Given the description of an element on the screen output the (x, y) to click on. 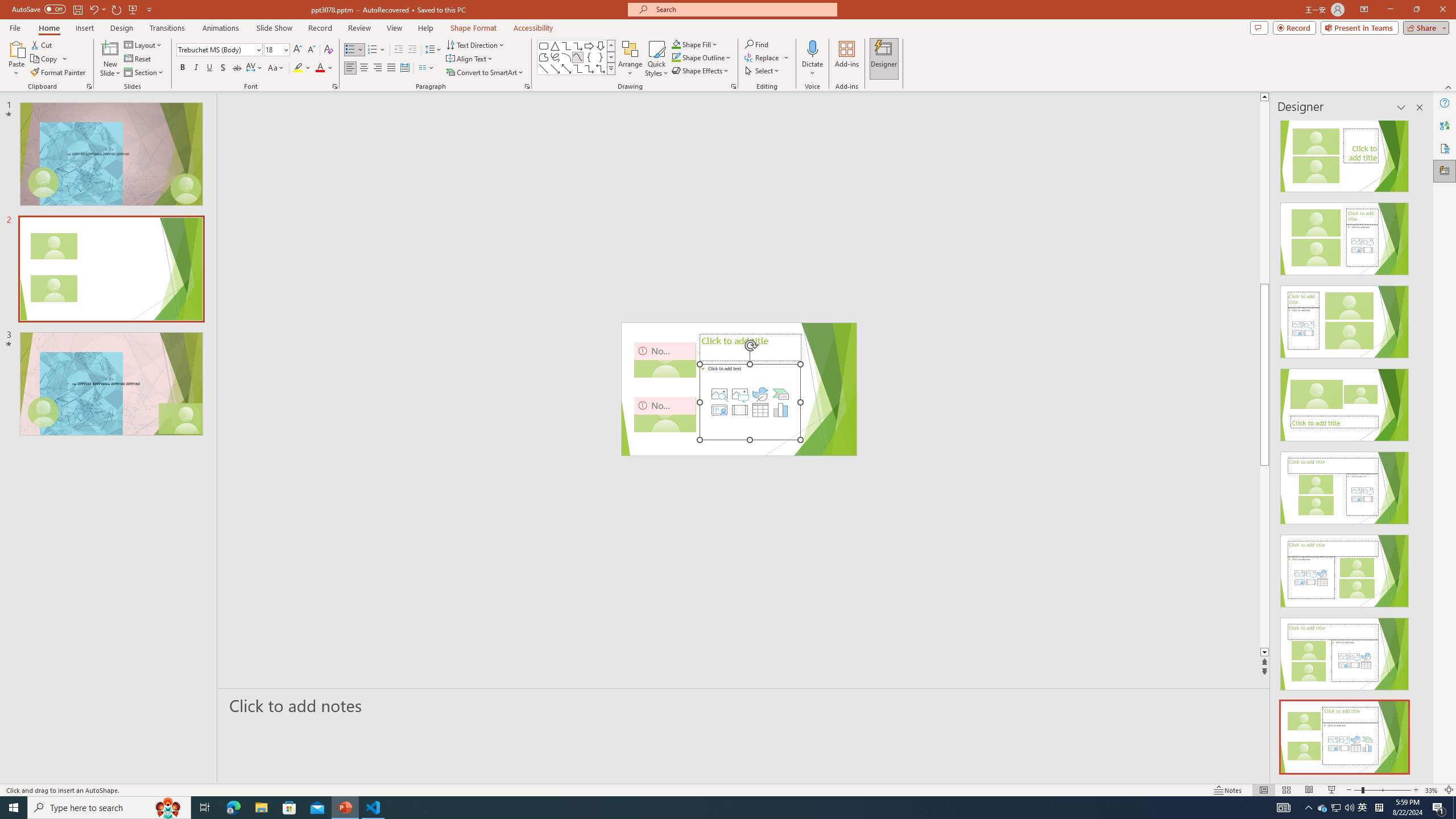
Insert Cameo (719, 409)
Shape Outline Green, Accent 1 (675, 56)
